Given the description of an element on the screen output the (x, y) to click on. 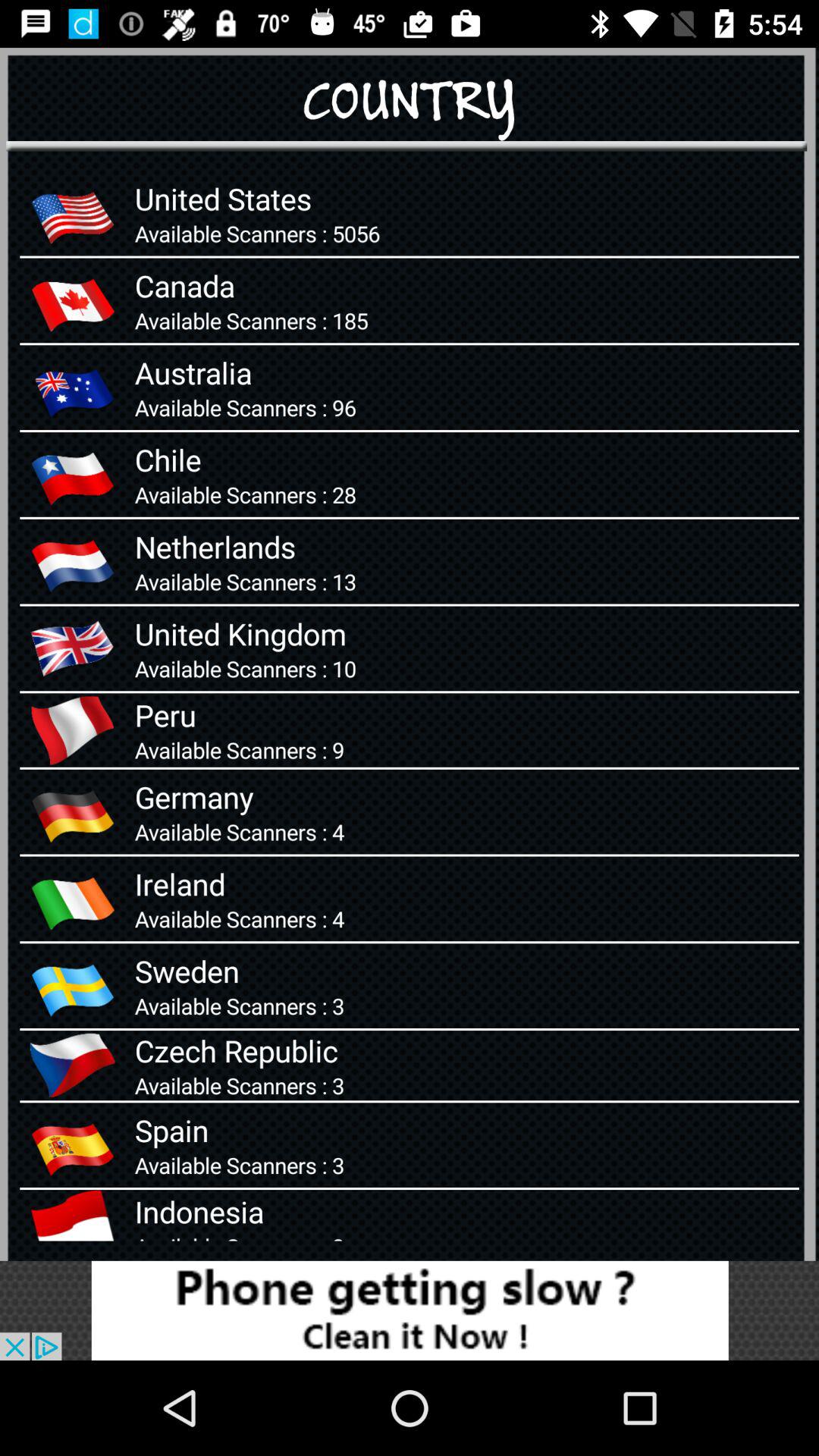
adverts (409, 1310)
